Given the description of an element on the screen output the (x, y) to click on. 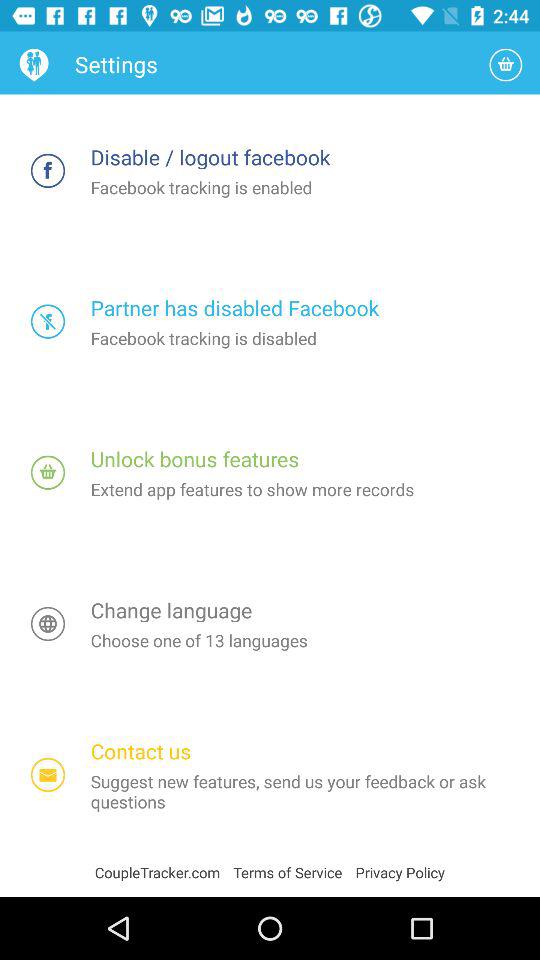
toggle facebook tracking (47, 170)
